Given the description of an element on the screen output the (x, y) to click on. 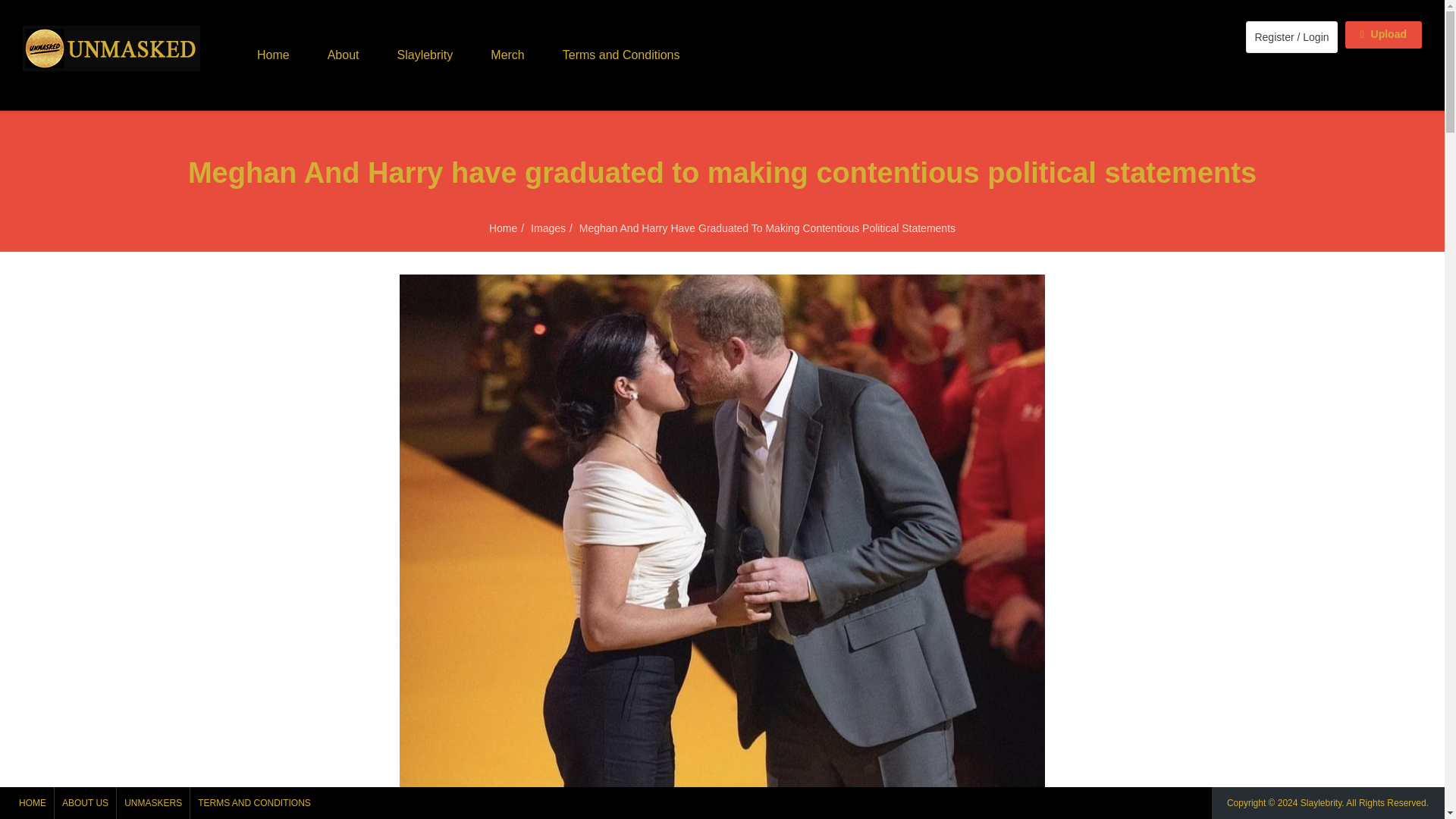
Terms and Conditions (620, 55)
TERMS AND CONDITIONS (254, 803)
Home (502, 227)
ABOUT US (85, 803)
Slaylebrity (1320, 802)
UNMASKERS (152, 803)
HOME (32, 803)
Images (548, 227)
Upload (1383, 34)
